Given the description of an element on the screen output the (x, y) to click on. 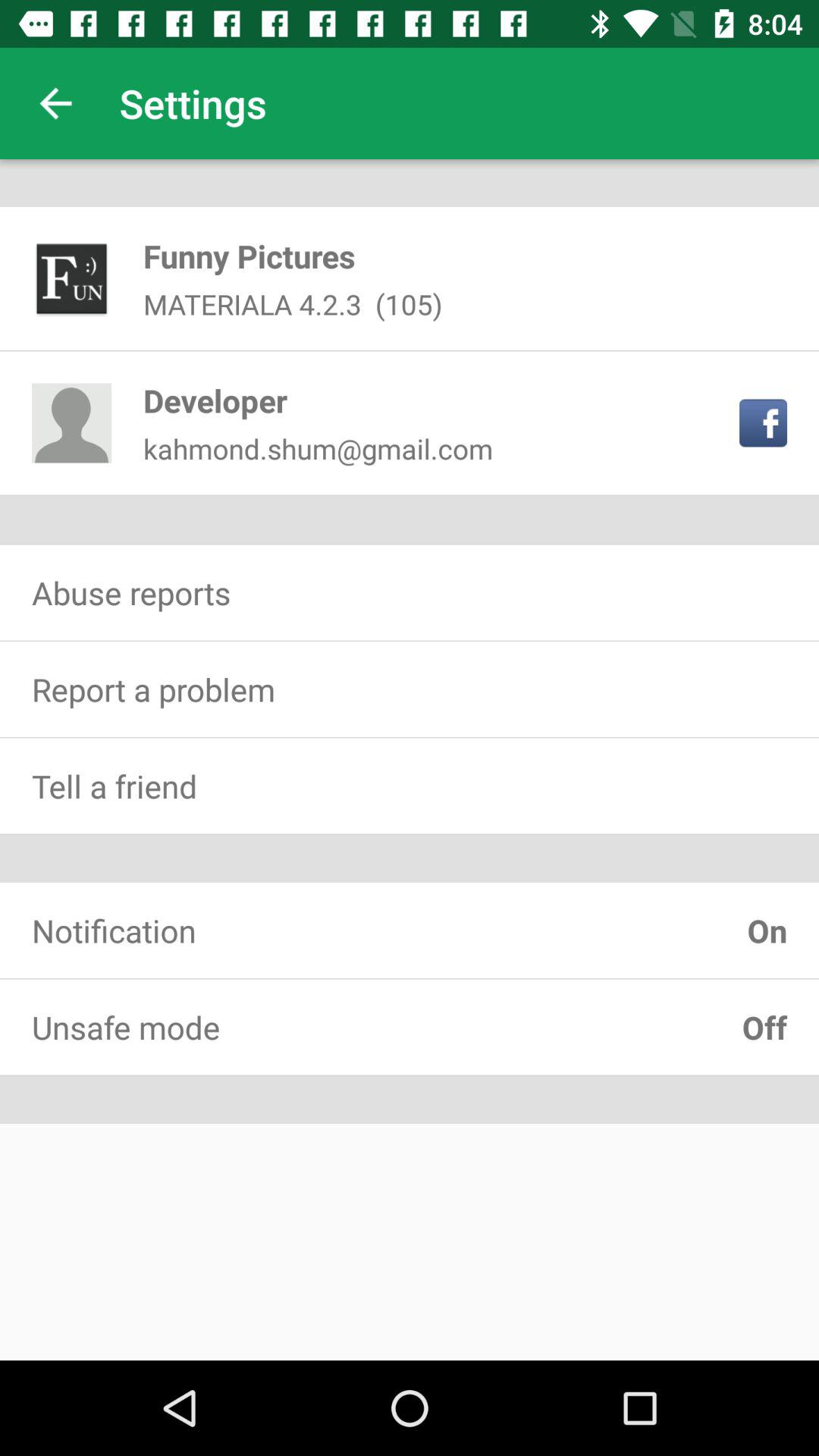
scroll until abuse reports item (409, 592)
